Given the description of an element on the screen output the (x, y) to click on. 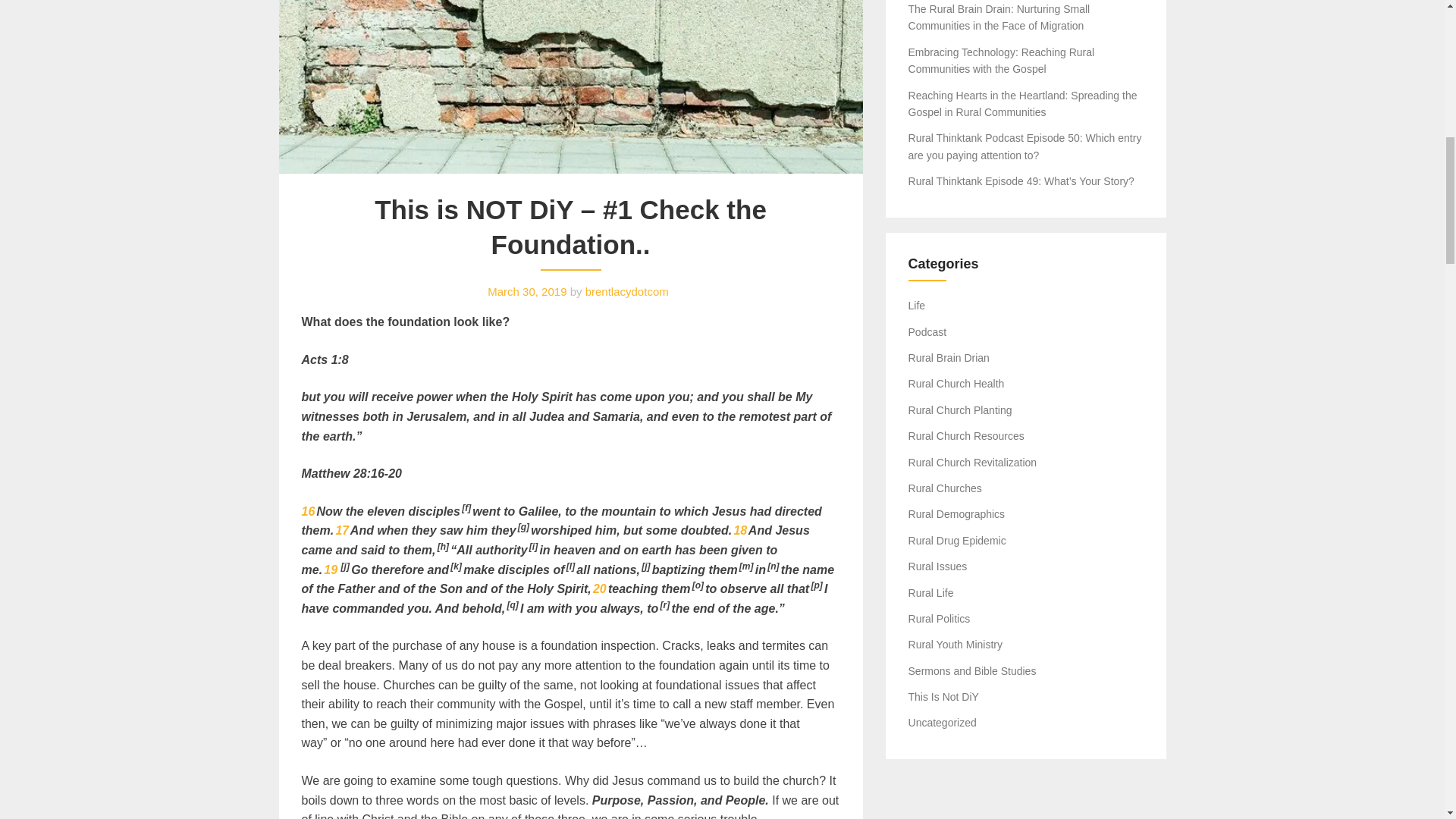
20 (599, 588)
18 (739, 530)
19 (330, 569)
16 (308, 511)
March 30, 2019 (526, 291)
17 (341, 530)
